Given the description of an element on the screen output the (x, y) to click on. 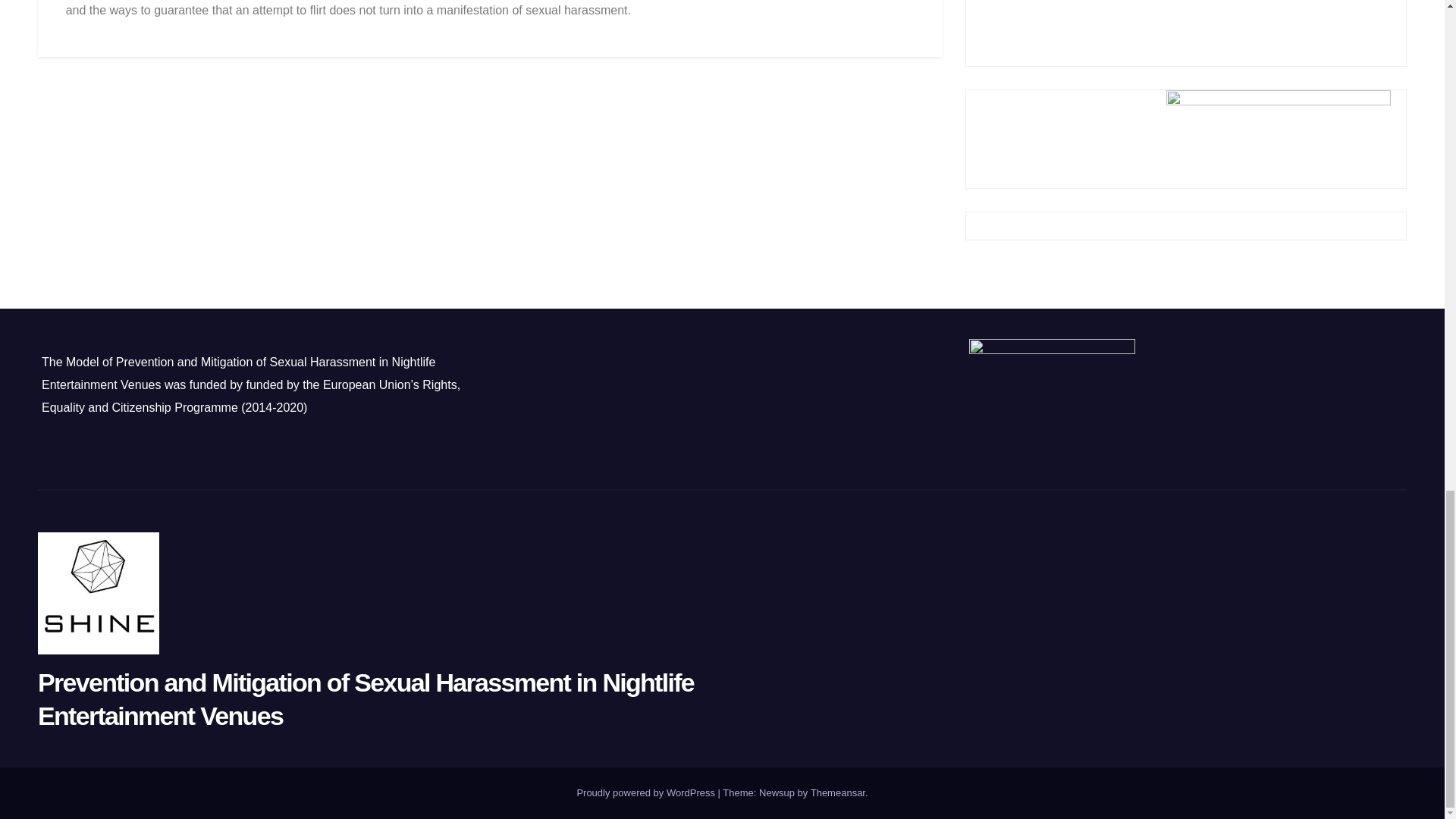
Themeansar (837, 792)
Proudly powered by WordPress (646, 792)
